Given the description of an element on the screen output the (x, y) to click on. 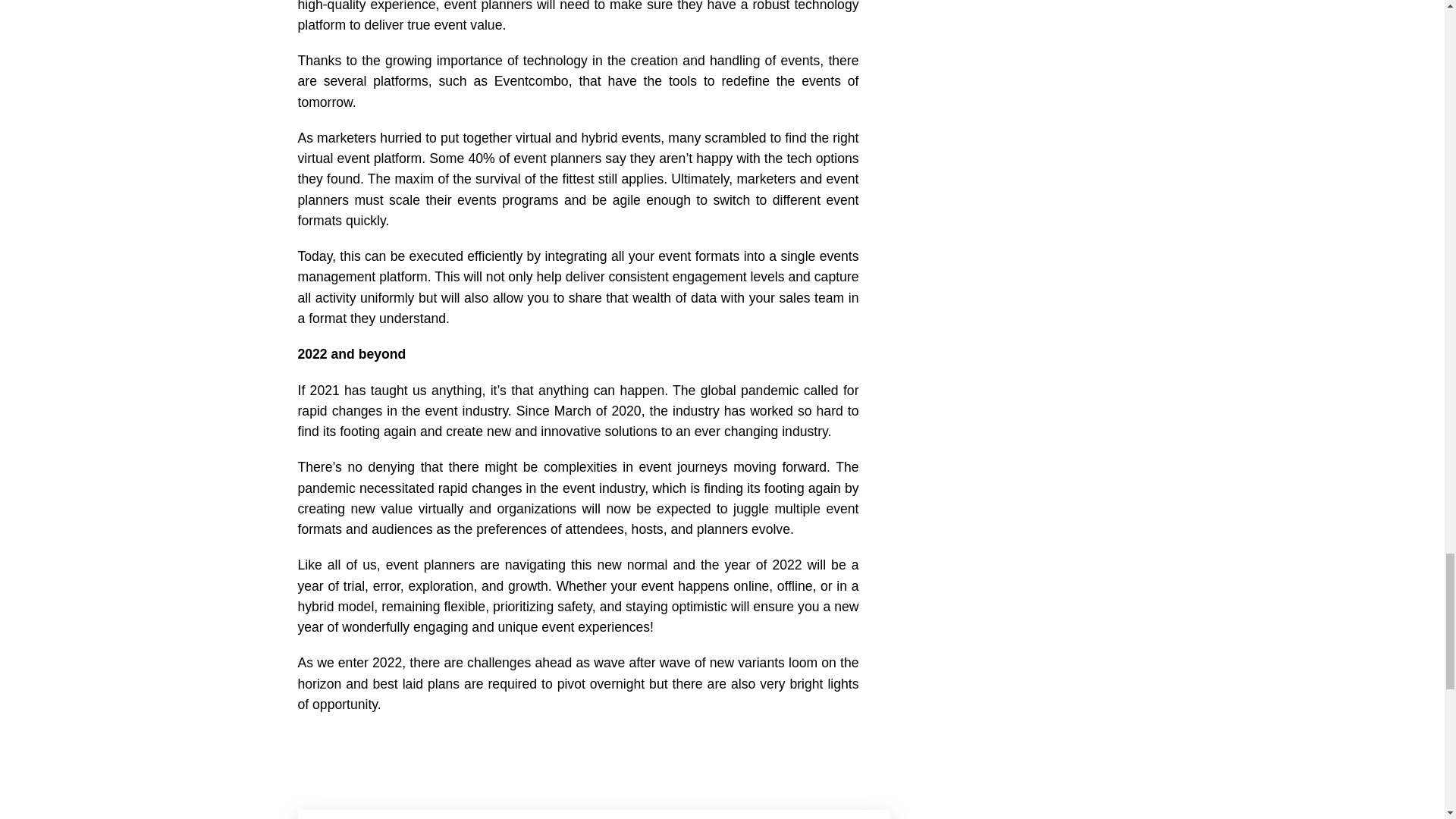
Share on Facebook (314, 753)
Share on Linkedin (393, 753)
Share on Twitter (354, 753)
